Given the description of an element on the screen output the (x, y) to click on. 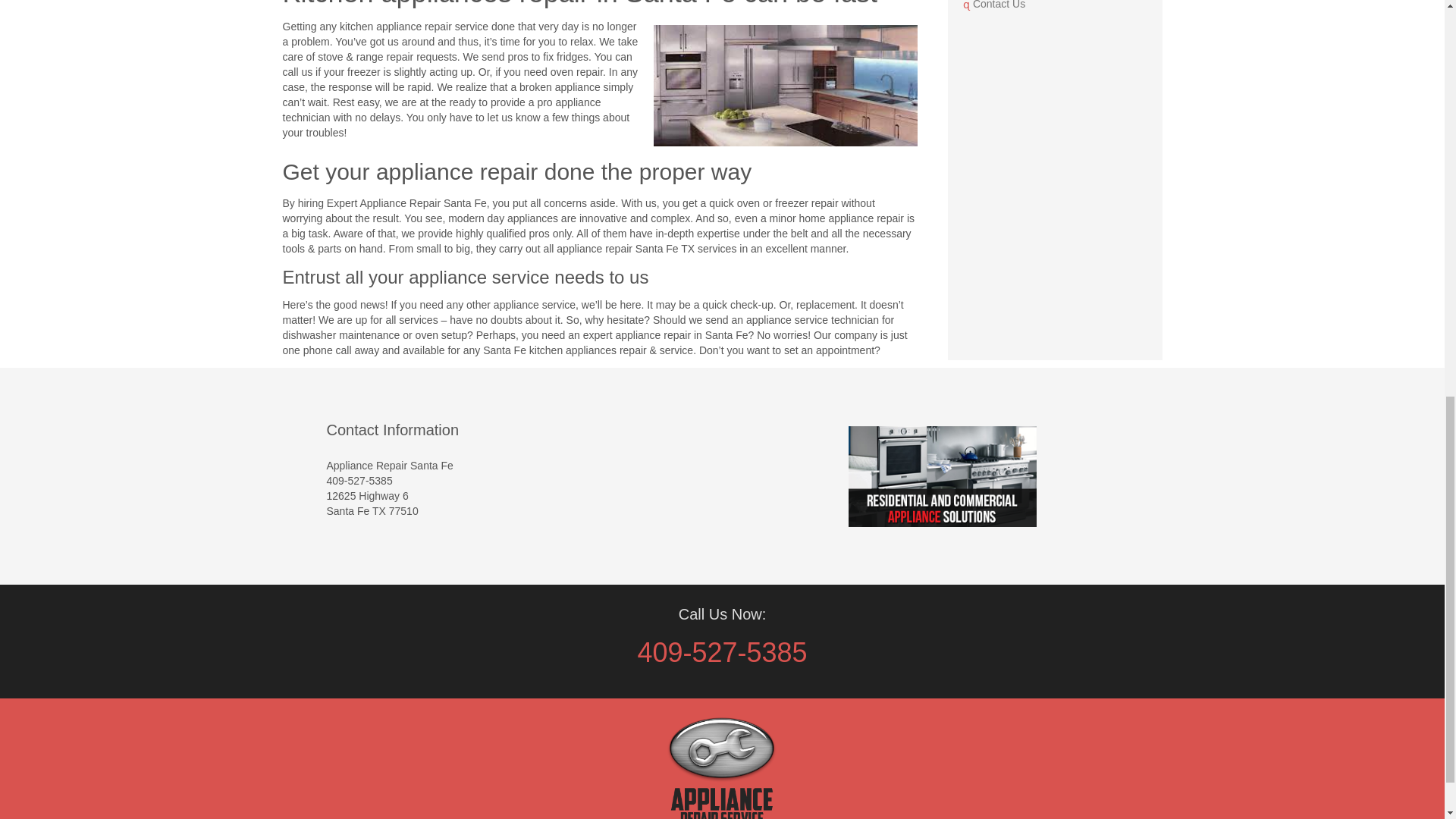
Contact Us (1055, 7)
409-527-5385 (721, 652)
